Given the description of an element on the screen output the (x, y) to click on. 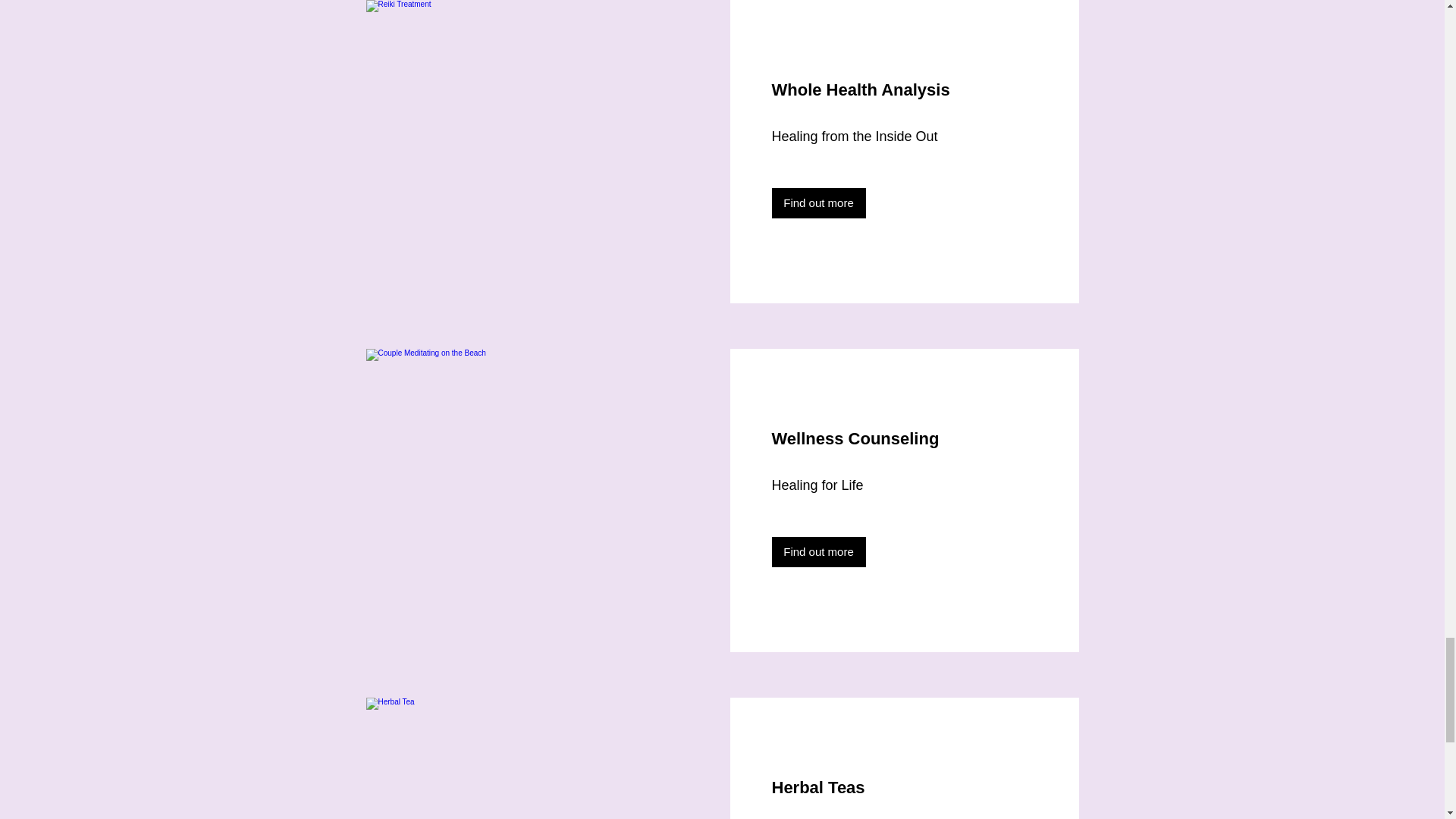
Find out more (818, 552)
Find out more (818, 203)
